Given the description of an element on the screen output the (x, y) to click on. 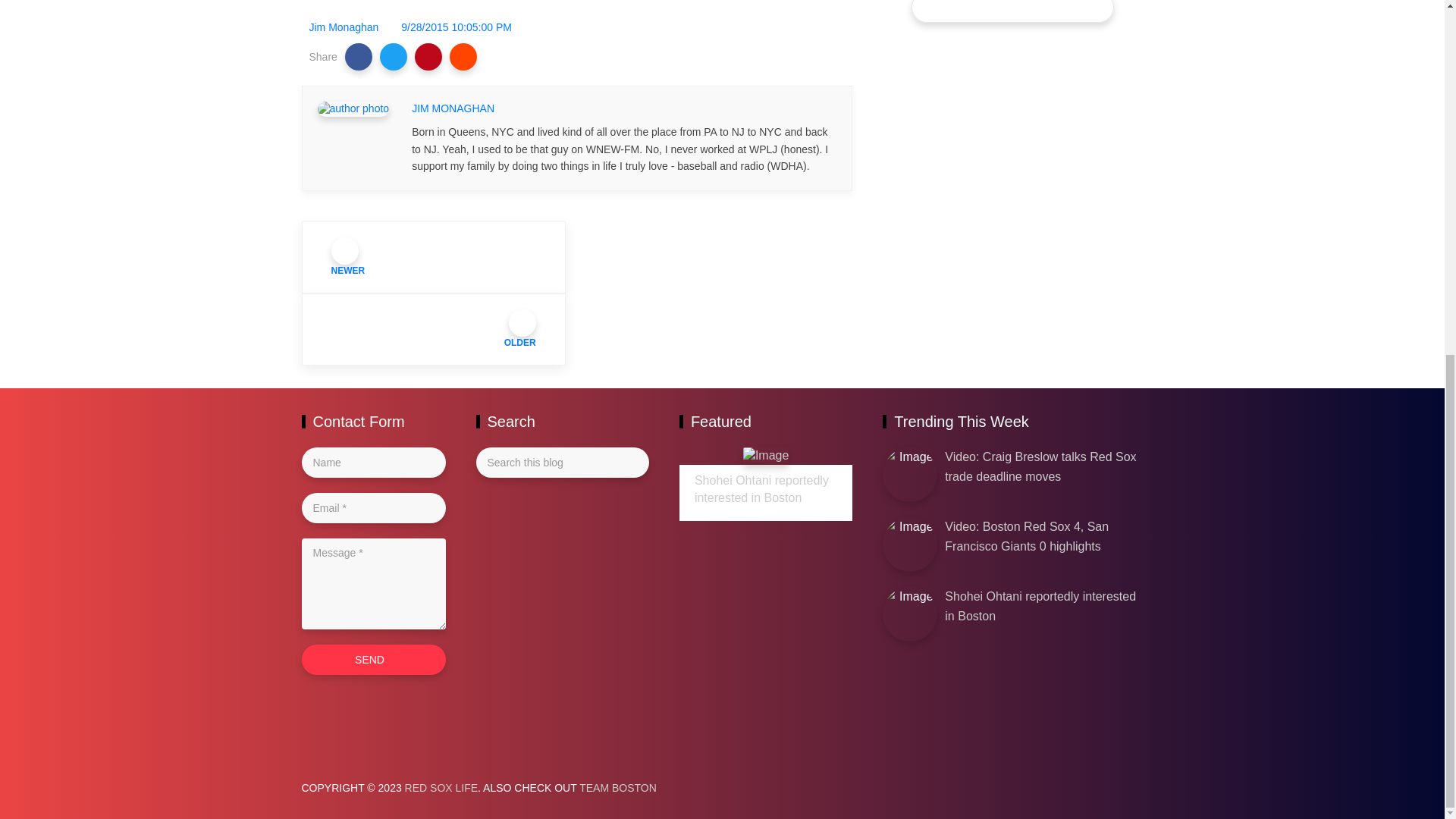
Video: Boston Red Sox 4, San Francisco Giants 0 highlights (1026, 536)
Share to Pinterest (428, 56)
JIM MONAGHAN (453, 109)
Jim Monaghan (343, 27)
Shohei Ohtani reportedly interested in Boston (1039, 605)
NEWER (433, 257)
OLDER (433, 329)
author profile (343, 27)
TEAM BOSTON (617, 787)
Share to Twitter (393, 56)
RED SOX LIFE (440, 787)
author profile (453, 109)
Shohei Ohtani reportedly interested in Boston (761, 489)
Share to Reddit (463, 56)
author profile (352, 108)
